Given the description of an element on the screen output the (x, y) to click on. 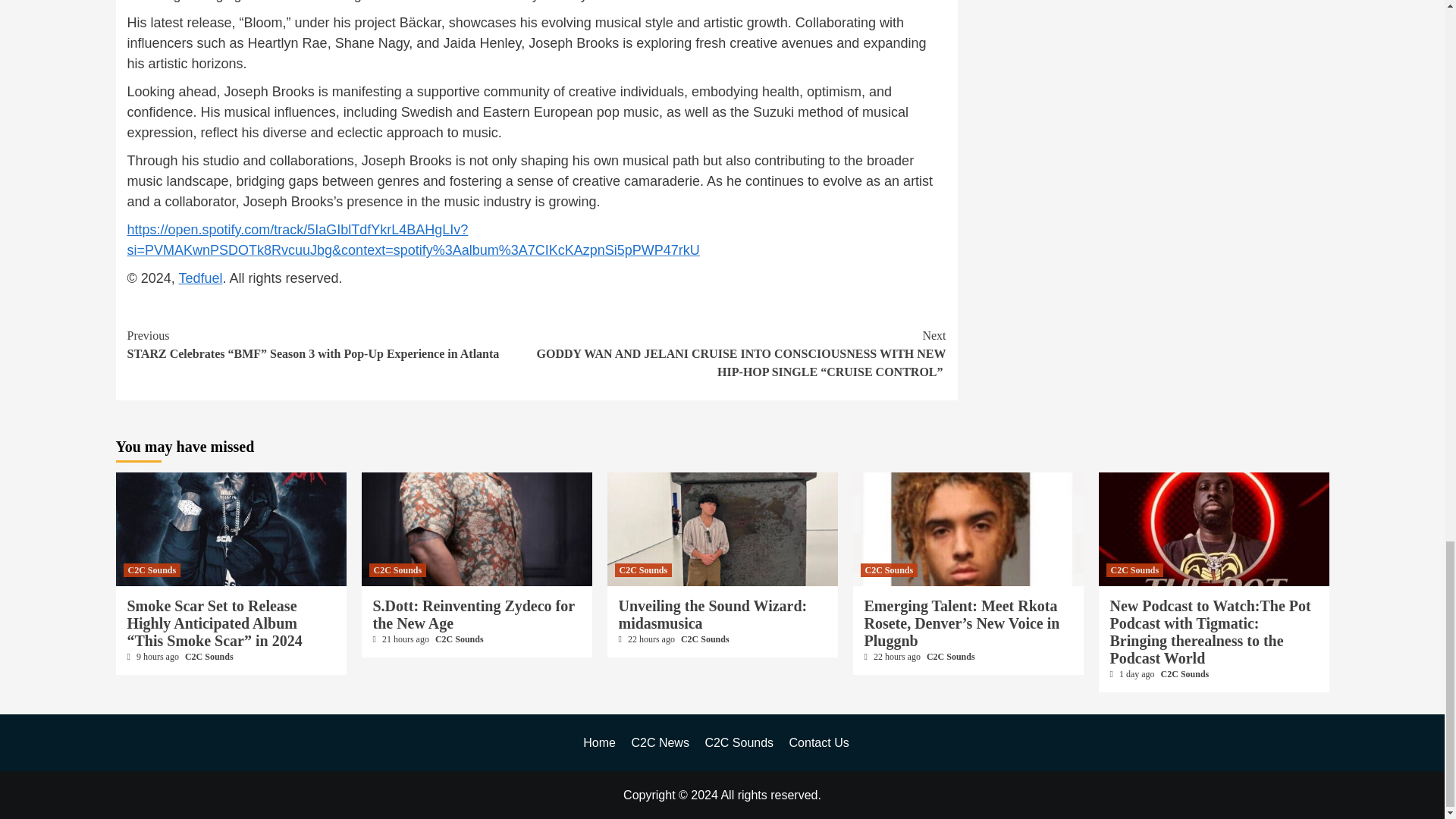
Tedfuel (199, 278)
C2C Sounds (397, 570)
S.Dott: Reinventing Zydeco for the New Age (473, 614)
Posts by Tedfuel (199, 278)
C2C Sounds (208, 656)
C2C Sounds (151, 570)
